Given the description of an element on the screen output the (x, y) to click on. 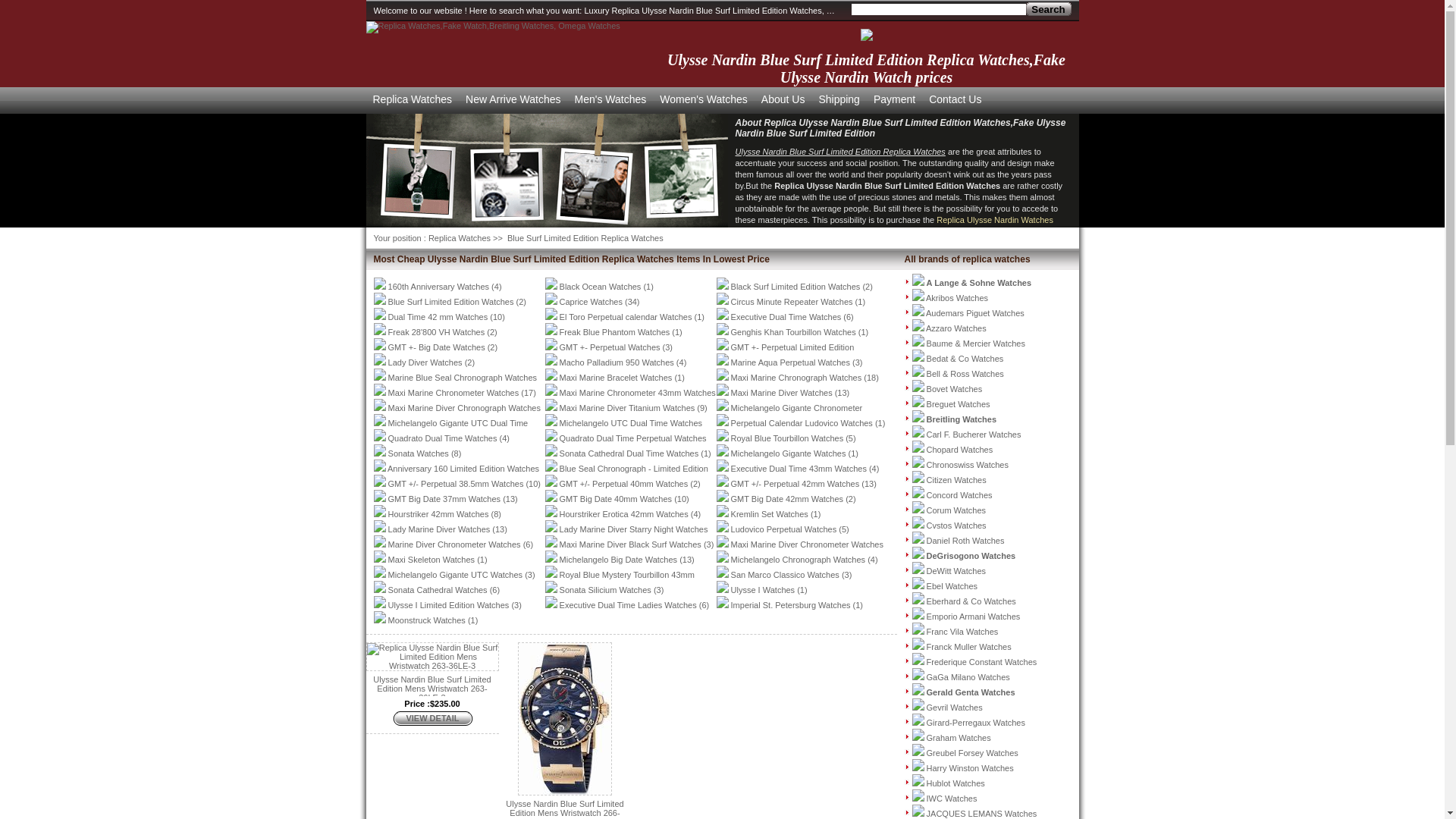
Maxi Marine Diver Titanium Watches Element type: text (627, 407)
Hourstriker Erotica 42mm Watches Element type: text (623, 513)
Ulysse I Limited Edition Watches Element type: text (448, 604)
Blue Seal Chronograph - Limited Edition Watches Element type: text (625, 476)
Bovet Watches Element type: text (954, 388)
El Toro Perpetual calendar Watches Element type: text (625, 316)
Harry Winston Watches Element type: text (969, 767)
Caprice Watches Element type: text (590, 301)
Greubel Forsey Watches Element type: text (972, 752)
Sonata Cathedral Watches Element type: text (437, 589)
Bell & Ross Watches Element type: text (965, 373)
Breitling Watches Element type: text (961, 418)
Lady Diver Watches Element type: text (425, 362)
Maxi Marine Chronometer Watches Element type: text (453, 392)
Hourstriker 42mm Watches Element type: text (438, 513)
Chopard Watches Element type: text (959, 449)
GMT Big Date 37mm Watches Element type: text (444, 498)
Girard-Perregaux Watches Element type: text (975, 722)
Men's Watches Element type: text (610, 99)
About Us Element type: text (783, 99)
Michelangelo UTC Dual Time Watches Element type: text (630, 422)
GMT +- Perpetual Watches Element type: text (609, 346)
Audemars Piguet Watches Element type: text (974, 312)
Anniversary 160 Limited Edition Watches Element type: text (463, 468)
Imperial St. Petersburg Watches Element type: text (790, 604)
GMT +- Perpetual Limited Edition Watches Element type: text (784, 354)
Gevril Watches Element type: text (954, 707)
JACQUES LEMANS Watches Element type: text (981, 813)
Franc Vila Watches Element type: text (962, 631)
Replica Ulysse Nardin Watches Element type: text (994, 219)
Executive Dual Time Watches Element type: text (786, 316)
Black Ocean Watches Element type: text (600, 286)
Perpetual Calendar Ludovico Watches Element type: text (801, 422)
Maxi Marine Diver Watches Element type: text (781, 392)
Michelangelo Big Date Watches Element type: text (618, 559)
Quadrato Dual Time Watches Element type: text (442, 437)
Kremlin Set Watches Element type: text (769, 513)
Black Surf Limited Edition Watches Element type: text (795, 286)
Graham Watches Element type: text (958, 737)
GMT Big Date 40mm Watches Element type: text (615, 498)
Michelangelo Gigante UTC Dual Time Watches Element type: text (450, 430)
Maxi Marine Diver Black Surf Watches Element type: text (630, 544)
Search Element type: text (1047, 8)
Ulysse Nardin Blue Surf Limited Edition Replica Watches Element type: text (840, 151)
A Lange & Sohne Watches Element type: text (979, 282)
Marine Aqua Perpetual Watches Element type: text (790, 362)
Azzaro Watches Element type: text (955, 327)
Shipping Element type: text (838, 99)
Executive Dual Time 43mm Watches Element type: text (798, 468)
Marine Diver Chronometer Watches Element type: text (454, 544)
Quadrato Dual Time Perpetual Watches Element type: text (632, 437)
Chronoswiss Watches Element type: text (967, 464)
Ebel Watches Element type: text (951, 585)
Lady Marine Diver Starry Night Watches Element type: text (633, 528)
Sonata Cathedral Dual Time Watches Element type: text (629, 453)
DeGrisogono Watches Element type: text (971, 555)
 Blue Surf Limited Edition Replica Watches Element type: text (584, 237)
Emporio Armani Watches Element type: text (973, 616)
Michelangelo Gigante UTC Watches Element type: text (455, 574)
Replica Watches Element type: text (459, 237)
GMT +/- Perpetual 38.5mm Watches Element type: text (456, 483)
Executive Dual Time Ladies Watches Element type: text (627, 604)
Frederique Constant Watches Element type: text (981, 661)
Dual Time 42 mm Watches Element type: text (438, 316)
Freak 28'800 VH Watches Element type: text (436, 331)
Breguet Watches Element type: text (958, 403)
Sonata Watches Element type: text (418, 453)
Ludovico Perpetual Watches Element type: text (784, 528)
Maxi Marine Bracelet Watches Element type: text (615, 377)
Royal Blue Tourbillon Watches Element type: text (787, 437)
Carl F. Bucherer Watches Element type: text (973, 434)
Gerald Genta Watches Element type: text (970, 691)
Cvstos Watches Element type: text (956, 525)
Women's Watches Element type: text (703, 99)
Maxi Marine Diver Chronometer Watches Element type: text (807, 544)
GMT +- Big Date Watches Element type: text (436, 346)
GaGa Milano Watches Element type: text (968, 676)
160th Anniversary Watches Element type: text (438, 286)
Michelangelo Chronograph Watches Element type: text (798, 559)
Eberhard & Co Watches Element type: text (971, 600)
Maxi Marine Chronometer 43mm Watches Element type: text (637, 392)
Michelangelo Gigante Watches Element type: text (788, 453)
Baume & Mercier Watches Element type: text (975, 343)
Bedat & Co Watches Element type: text (965, 358)
Concord Watches Element type: text (959, 494)
Genghis Khan Tourbillon Watches Element type: text (793, 331)
GMT +/- Perpetual 40mm Watches Element type: text (623, 483)
IWC Watches Element type: text (951, 798)
GMT Big Date 42mm Watches Element type: text (787, 498)
Franck Muller Watches Element type: text (968, 646)
Macho Palladium 950 Watches Element type: text (616, 362)
Blue Surf Limited Edition Watches Element type: text (451, 301)
Replica Watches Element type: hover (492, 25)
Citizen Watches Element type: text (956, 479)
Moonstruck Watches Element type: text (426, 619)
Sonata Silicium Watches Element type: text (605, 589)
GMT +/- Perpetual 42mm Watches Element type: text (795, 483)
VIEW DETAIL Element type: text (431, 717)
Marine Blue Seal Chronograph Watches Element type: text (462, 377)
Royal Blue Mystery Tourbillon 43mm Watches Element type: text (618, 582)
Maxi Marine Diver Chronograph Watches Element type: text (464, 407)
New Arrive Watches Element type: text (513, 99)
Maxi Marine Chronograph Watches Element type: text (796, 377)
Replica Watches Element type: text (412, 99)
Contact Us Element type: text (954, 99)
DeWitt Watches Element type: text (955, 570)
Corum Watches Element type: text (955, 509)
Circus Minute Repeater Watches Element type: text (792, 301)
Lady Marine Diver Watches Element type: text (439, 528)
Maxi Skeleton Watches Element type: text (431, 559)
Akribos Watches Element type: text (956, 297)
Ulysse I Watches Element type: text (763, 589)
San Marco Classico Watches Element type: text (785, 574)
Payment Element type: text (894, 99)
Freak Blue Phantom Watches Element type: text (614, 331)
Daniel Roth Watches Element type: text (965, 540)
Michelangelo Gigante Chronometer Watches Element type: text (788, 415)
Hublot Watches Element type: text (955, 782)
